Given the description of an element on the screen output the (x, y) to click on. 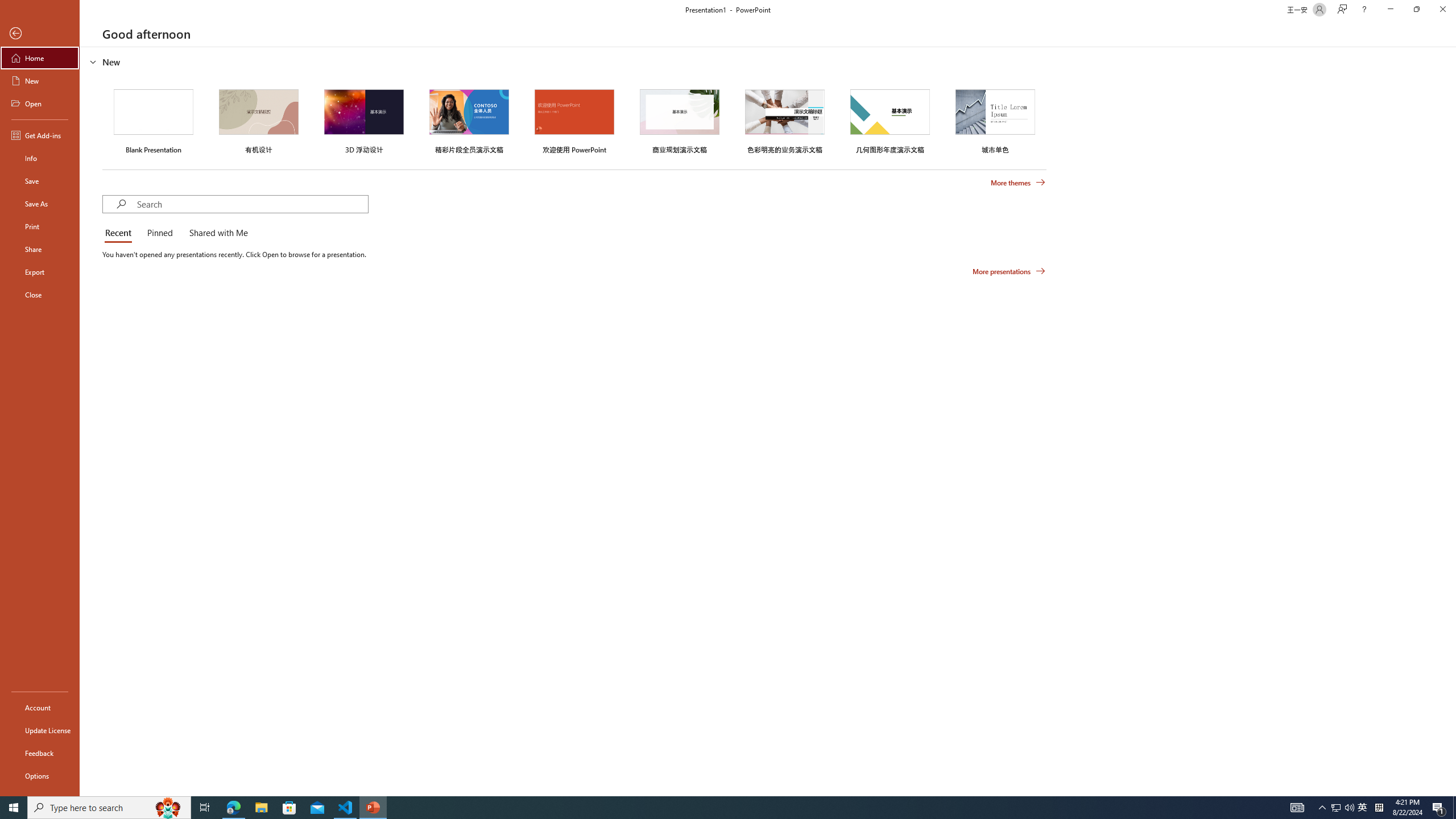
Recent (119, 233)
Info (40, 157)
Pinned (159, 233)
Update License (40, 730)
